Given the description of an element on the screen output the (x, y) to click on. 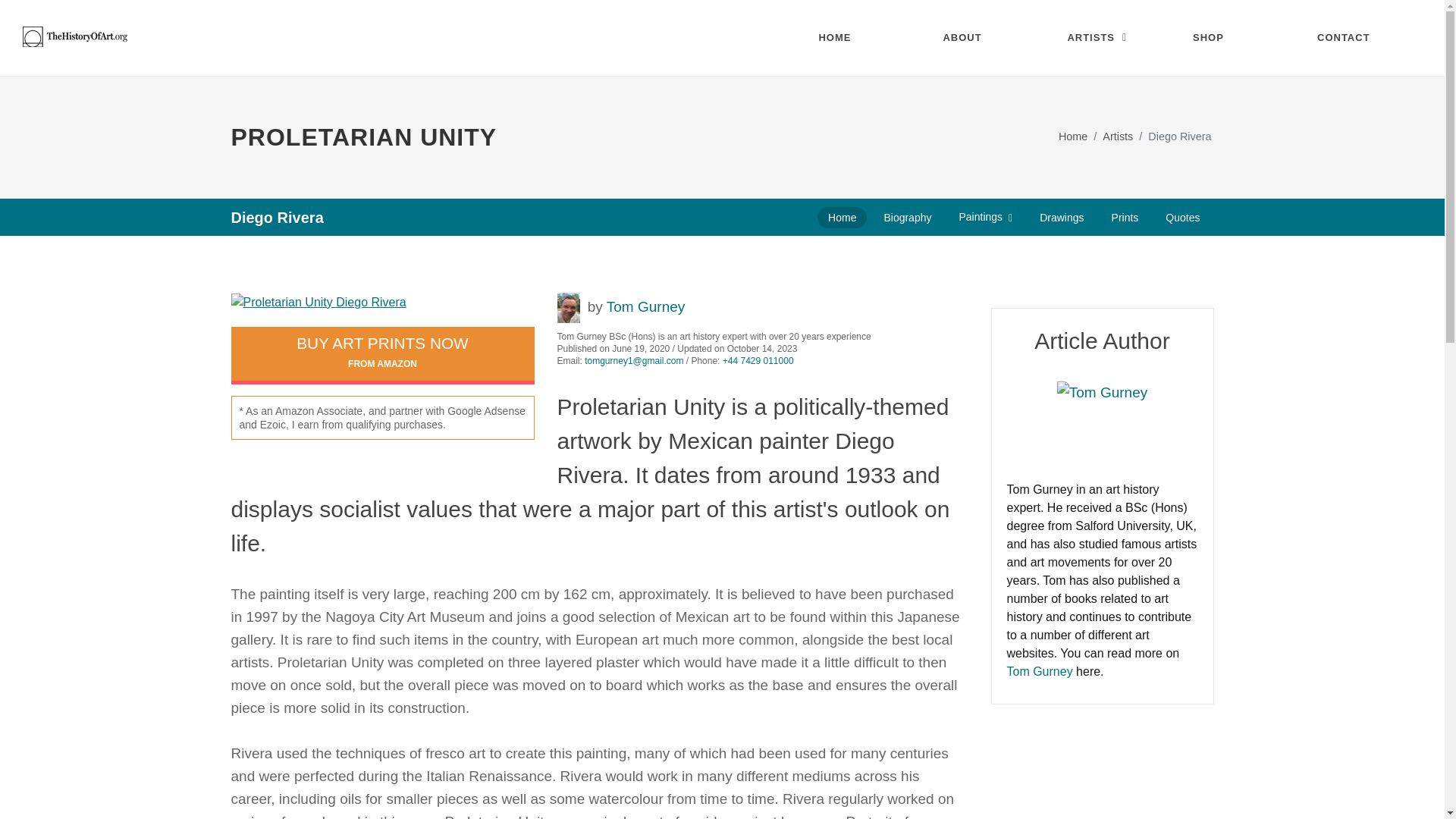
ABOUT (973, 38)
ARTISTS (1098, 38)
HOME (849, 38)
